Given the description of an element on the screen output the (x, y) to click on. 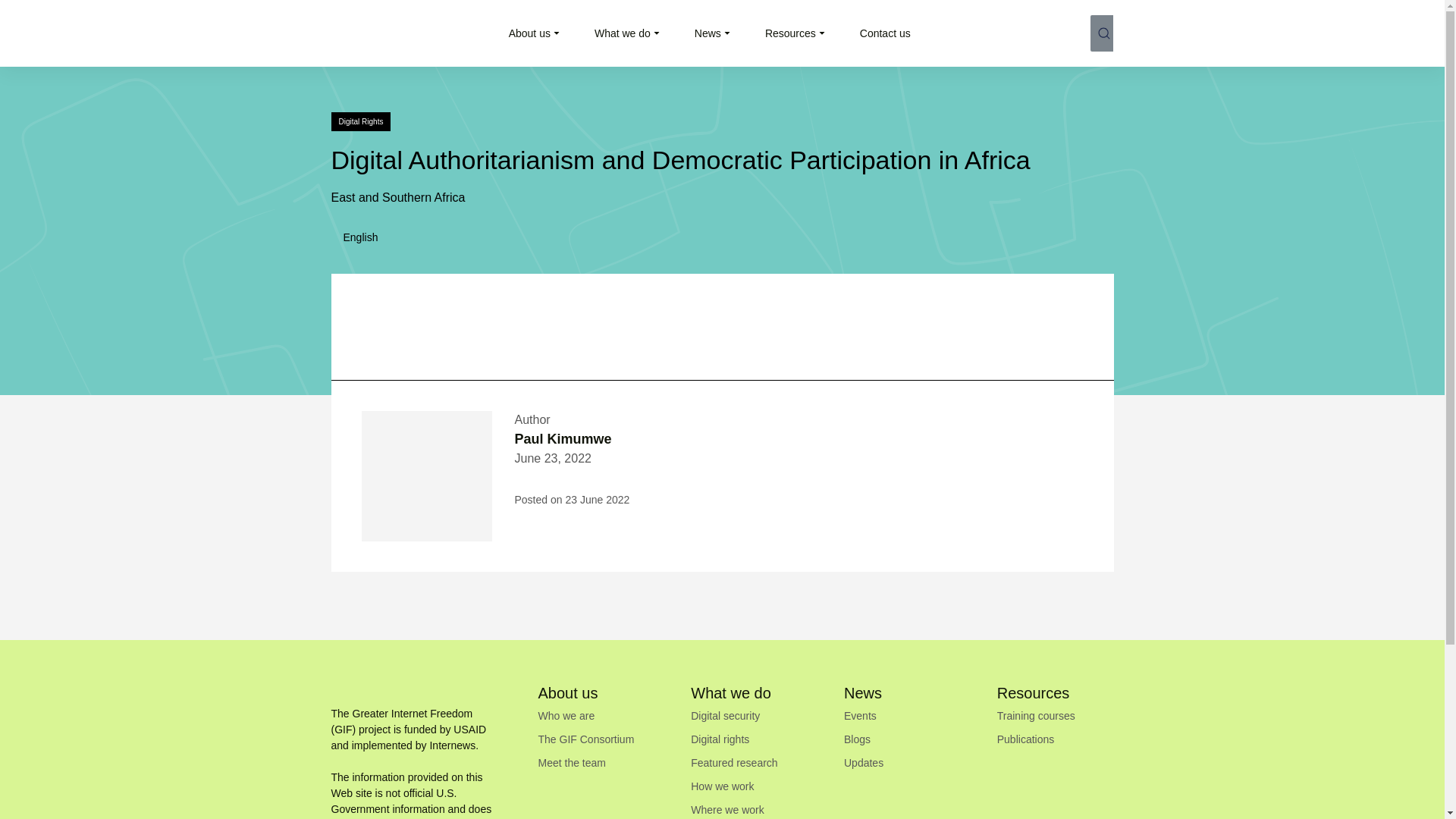
Who we are (566, 715)
Contact us (885, 33)
The GIF Consortium (586, 739)
